Given the description of an element on the screen output the (x, y) to click on. 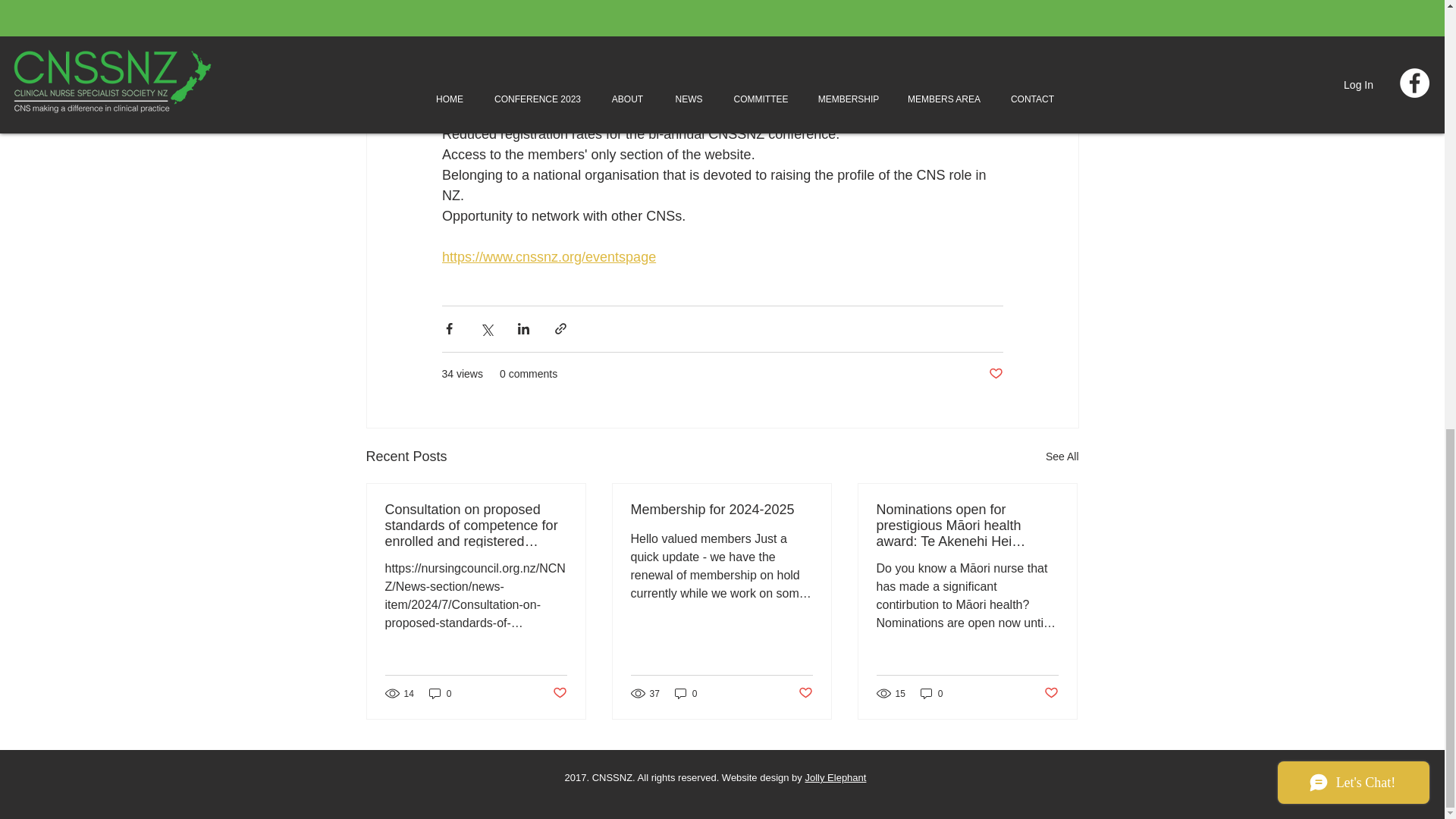
Post not marked as liked (558, 693)
0 (685, 693)
See All (1061, 456)
Membership for 2024-2025 (721, 509)
0 (931, 693)
Post not marked as liked (995, 374)
0 (440, 693)
Post not marked as liked (1050, 693)
Post not marked as liked (804, 693)
